Given the description of an element on the screen output the (x, y) to click on. 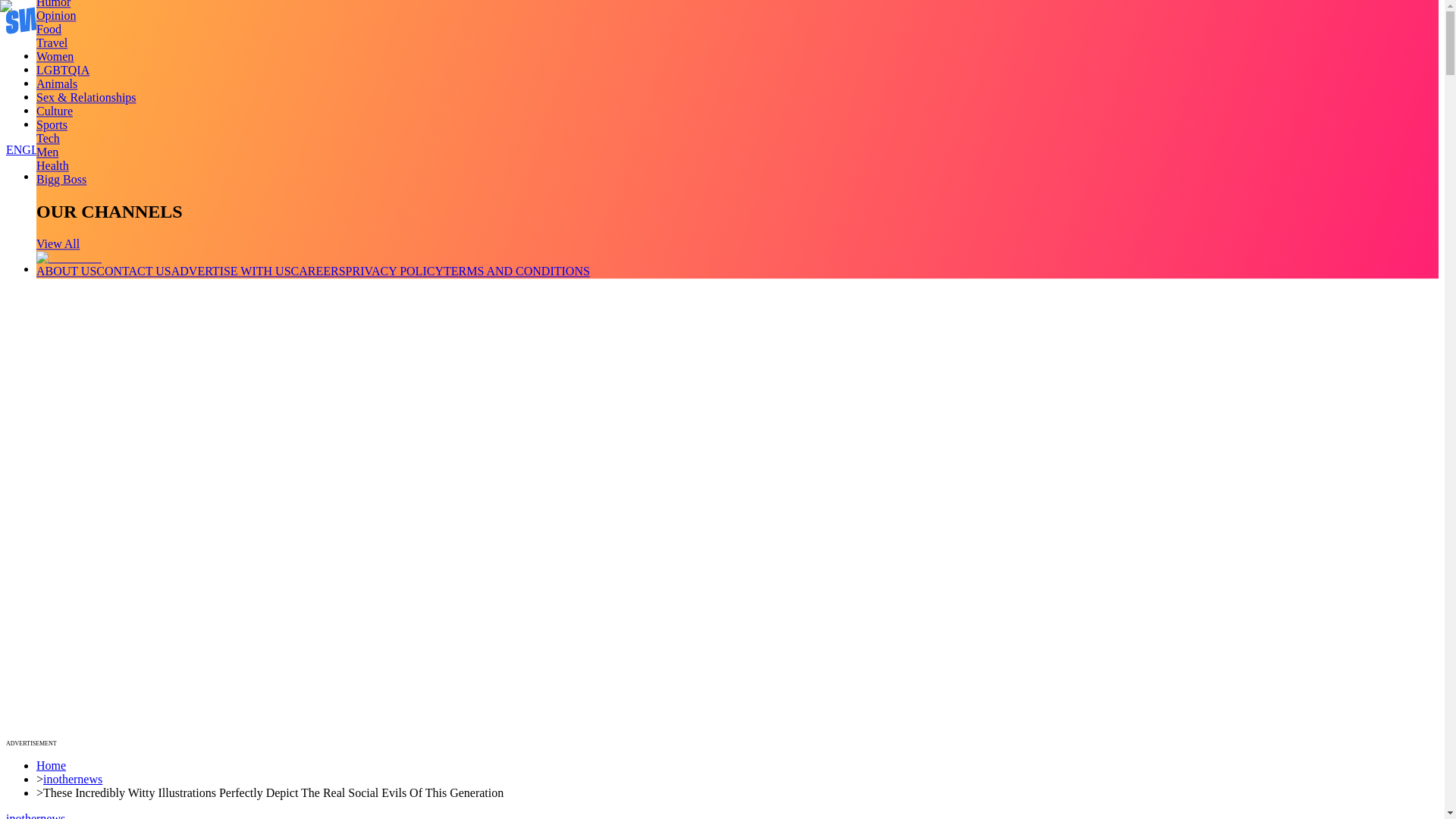
Bigg Boss (60, 178)
LGBTQIA (62, 69)
ADVERTISE WITH US (231, 270)
Quizzes (55, 96)
Memes (53, 110)
Men (47, 151)
Travel (51, 42)
Trending (58, 55)
Sports (51, 124)
Health (52, 164)
ENGLISH (31, 149)
Tech (47, 137)
Stories (52, 82)
Culture (54, 110)
Opinion (55, 15)
